Given the description of an element on the screen output the (x, y) to click on. 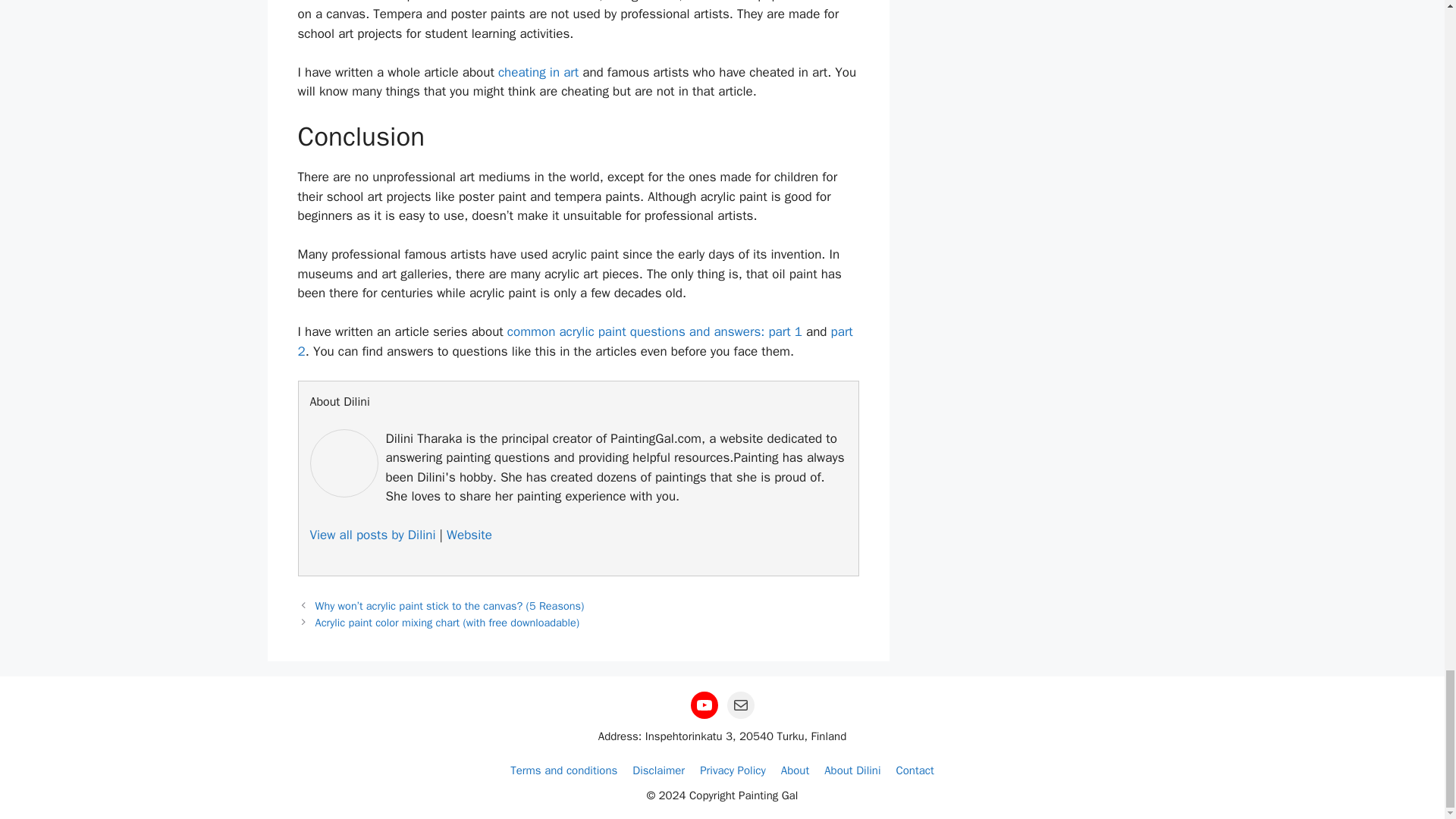
Disclaimer (657, 770)
Privacy Policy (732, 770)
About Dilini (852, 770)
Mail (740, 705)
YouTube (703, 705)
common acrylic paint questions and answers: part 1 (654, 331)
Website (469, 534)
About (794, 770)
Contact (915, 770)
part 2 (574, 341)
